Given the description of an element on the screen output the (x, y) to click on. 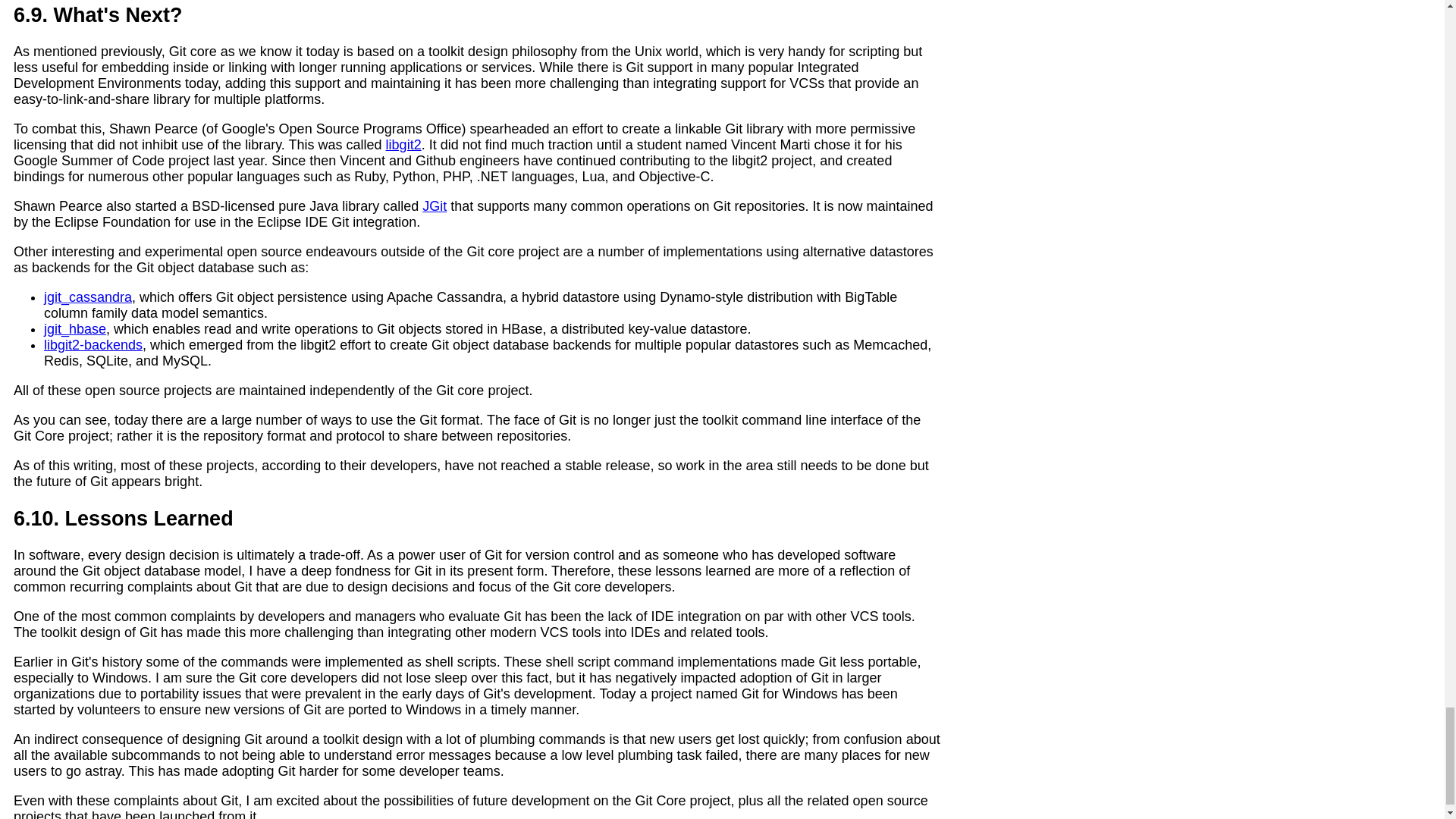
libgit2 (403, 144)
JGit (434, 206)
libgit2-backends (92, 344)
